Given the description of an element on the screen output the (x, y) to click on. 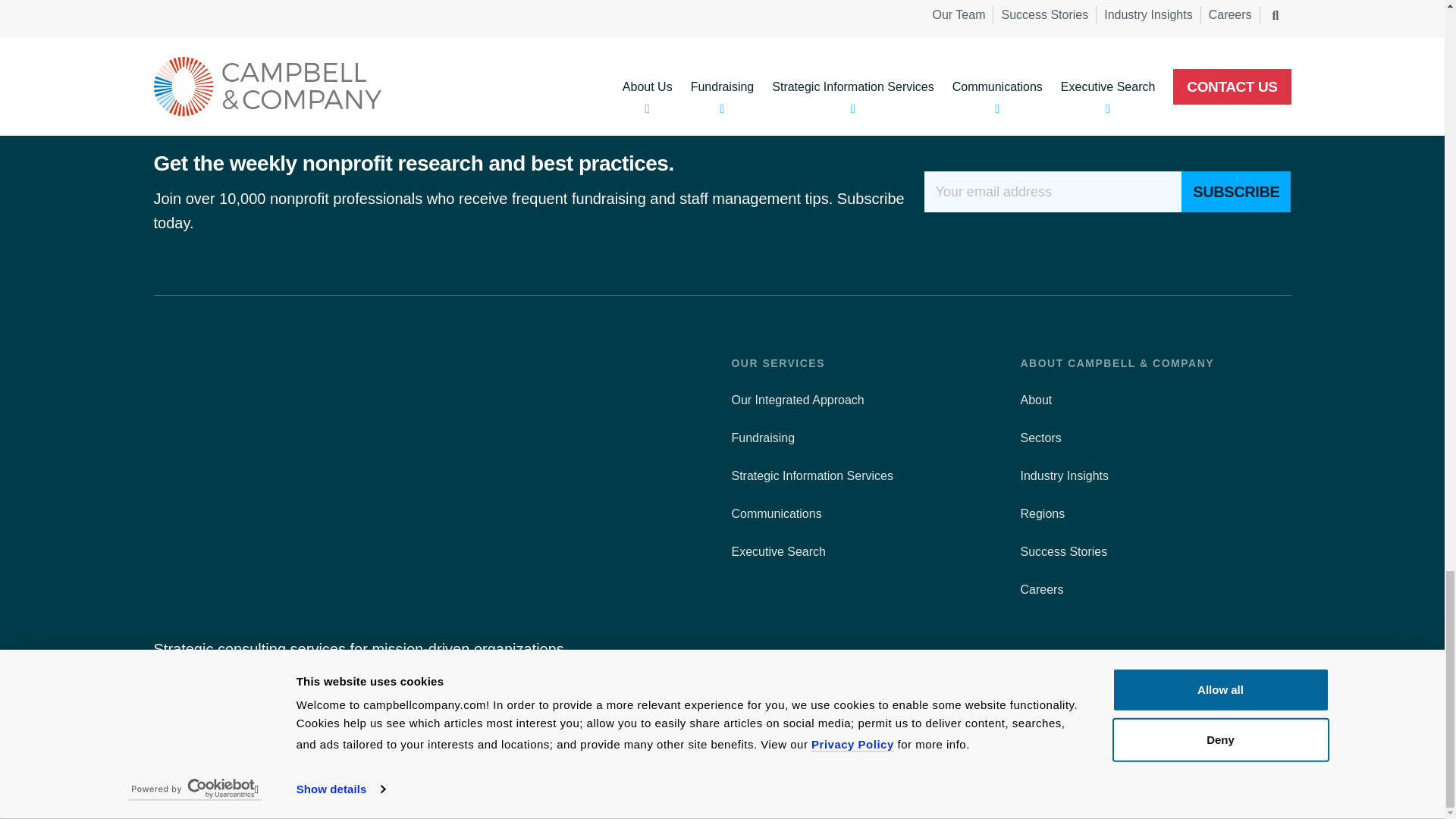
Subscribe (1235, 191)
